Given the description of an element on the screen output the (x, y) to click on. 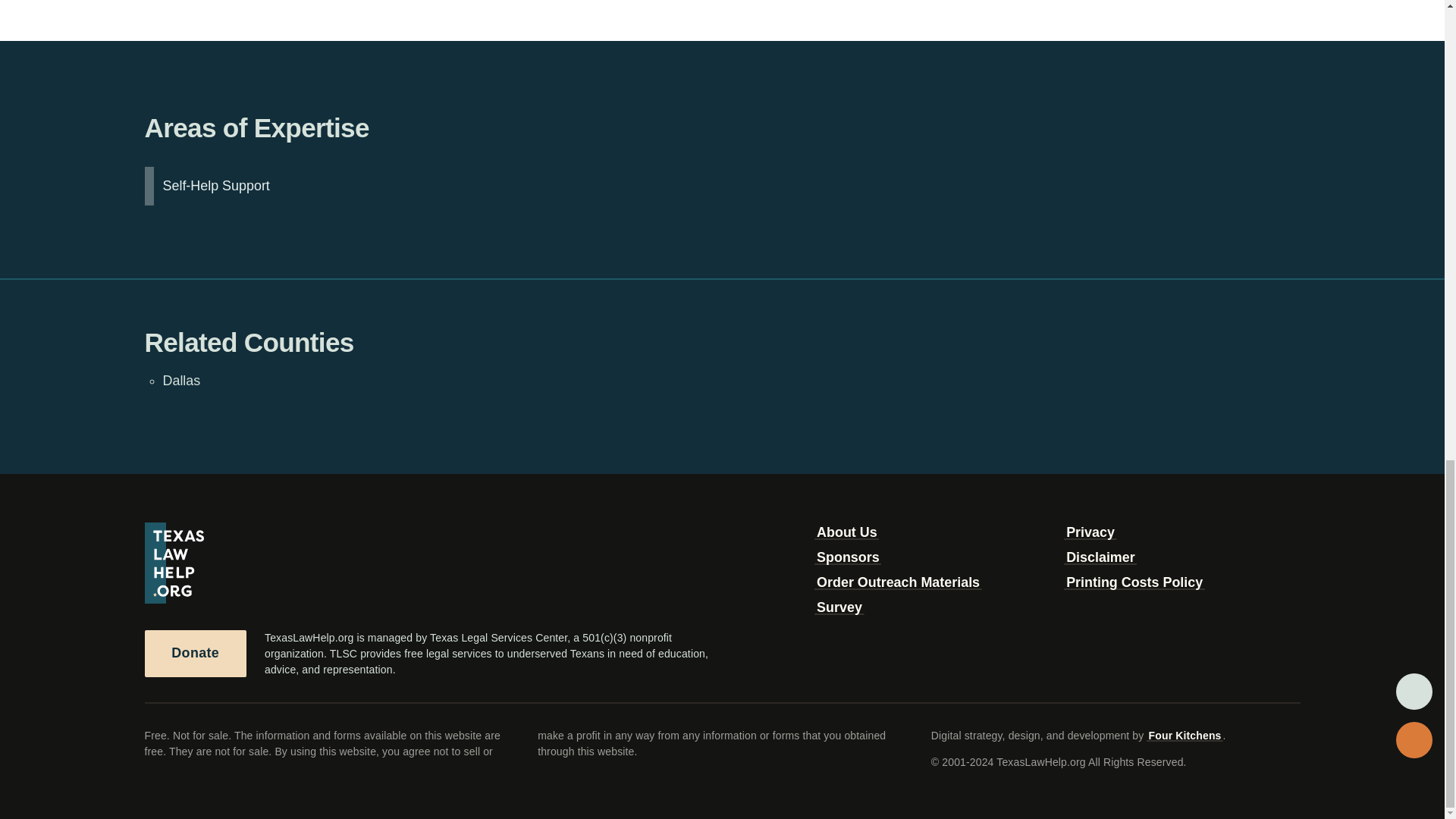
About Us (846, 531)
Sponsors (846, 557)
Survey (838, 607)
Disclaimer (1100, 557)
Order Outreach Materials (897, 581)
Privacy (1090, 531)
Self-Help Support (215, 186)
